Given the description of an element on the screen output the (x, y) to click on. 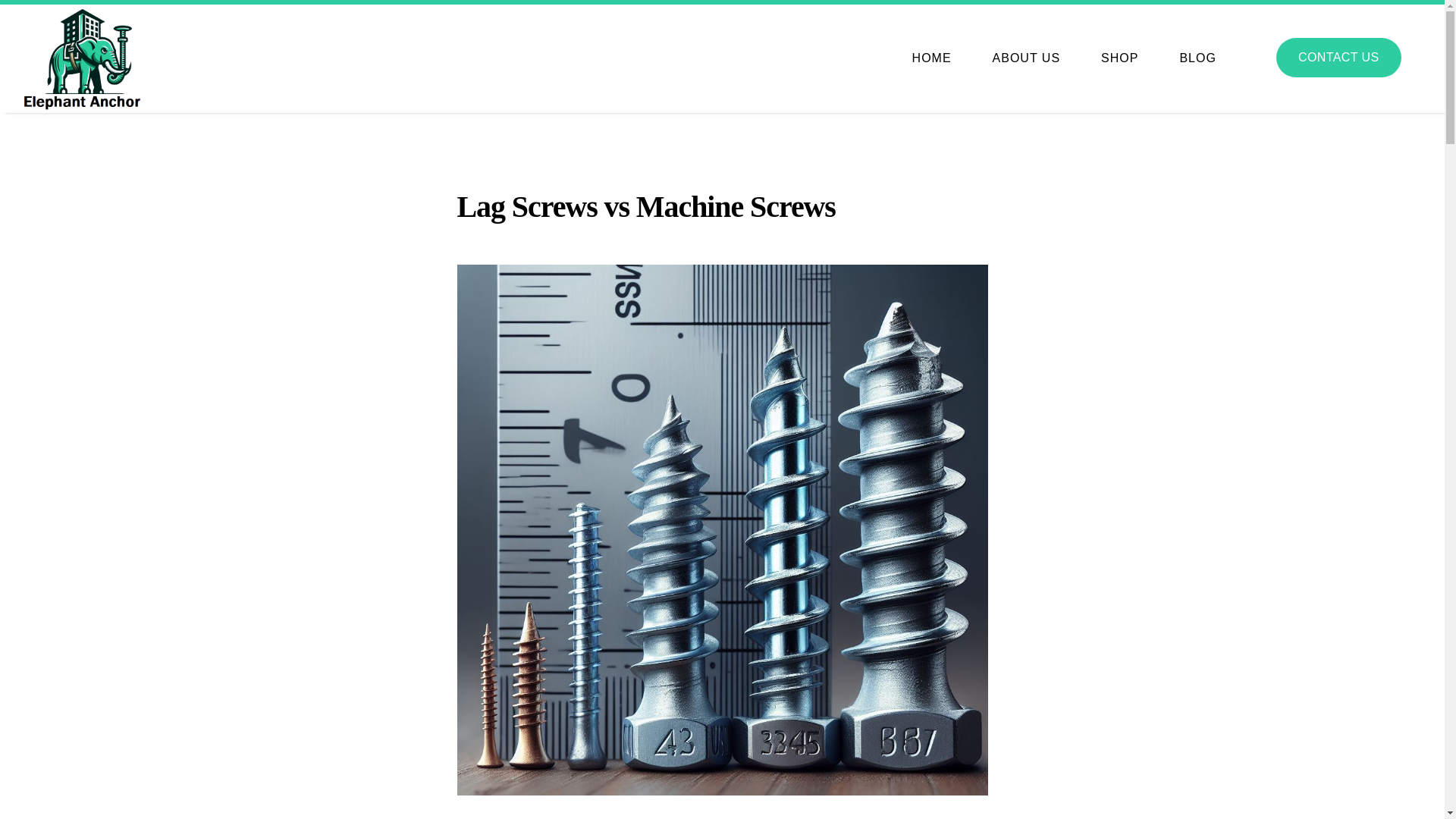
ABOUT US (1026, 58)
BLOG (1197, 58)
SHOP (1119, 58)
HOME (931, 58)
CONTACT US (1338, 56)
